Given the description of an element on the screen output the (x, y) to click on. 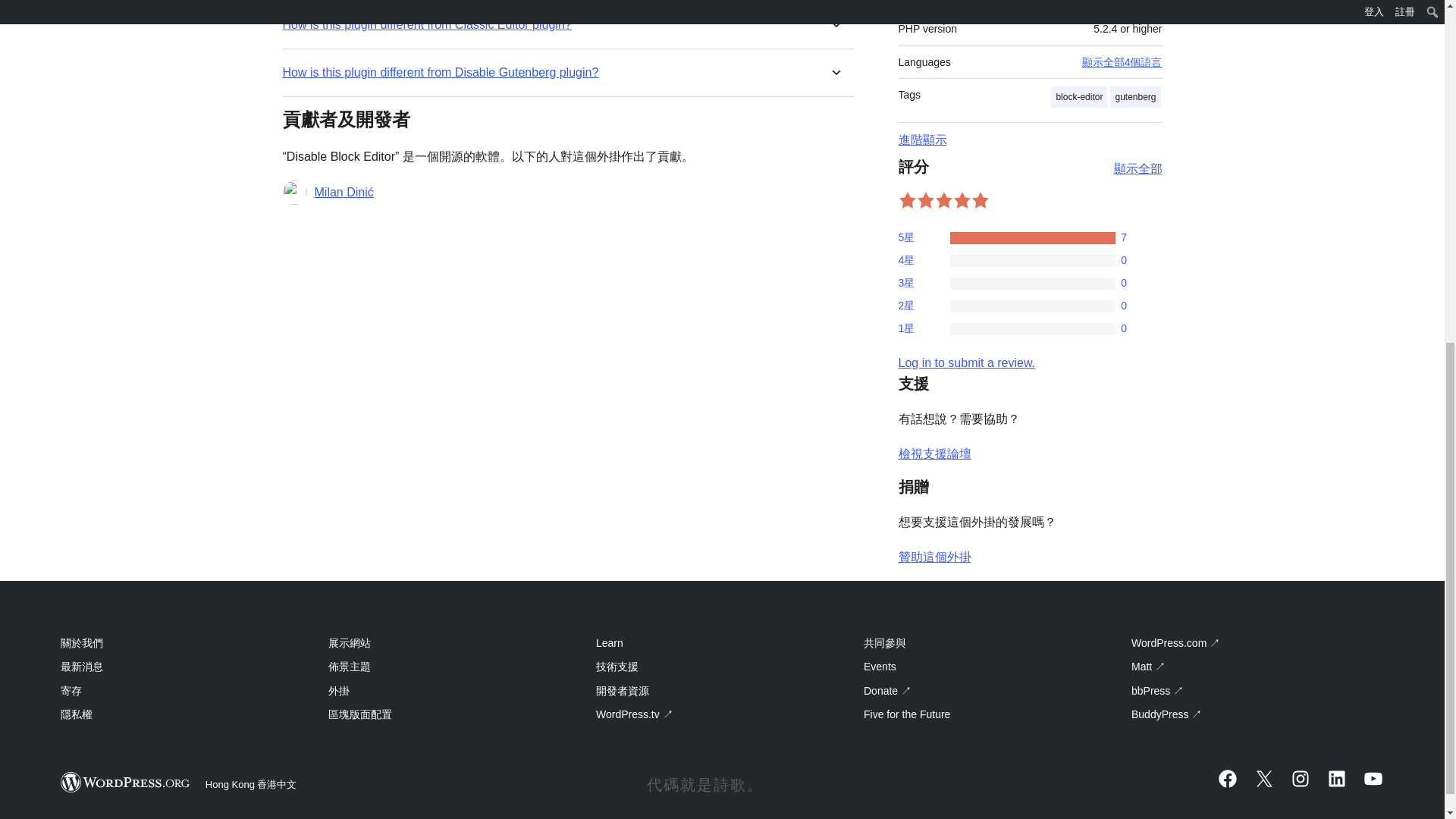
How is this plugin different from Disable Gutenberg plugin? (440, 72)
How is this plugin different from Classic Editor plugin? (426, 24)
WordPress.org (125, 782)
Log in to WordPress.org (966, 362)
